Given the description of an element on the screen output the (x, y) to click on. 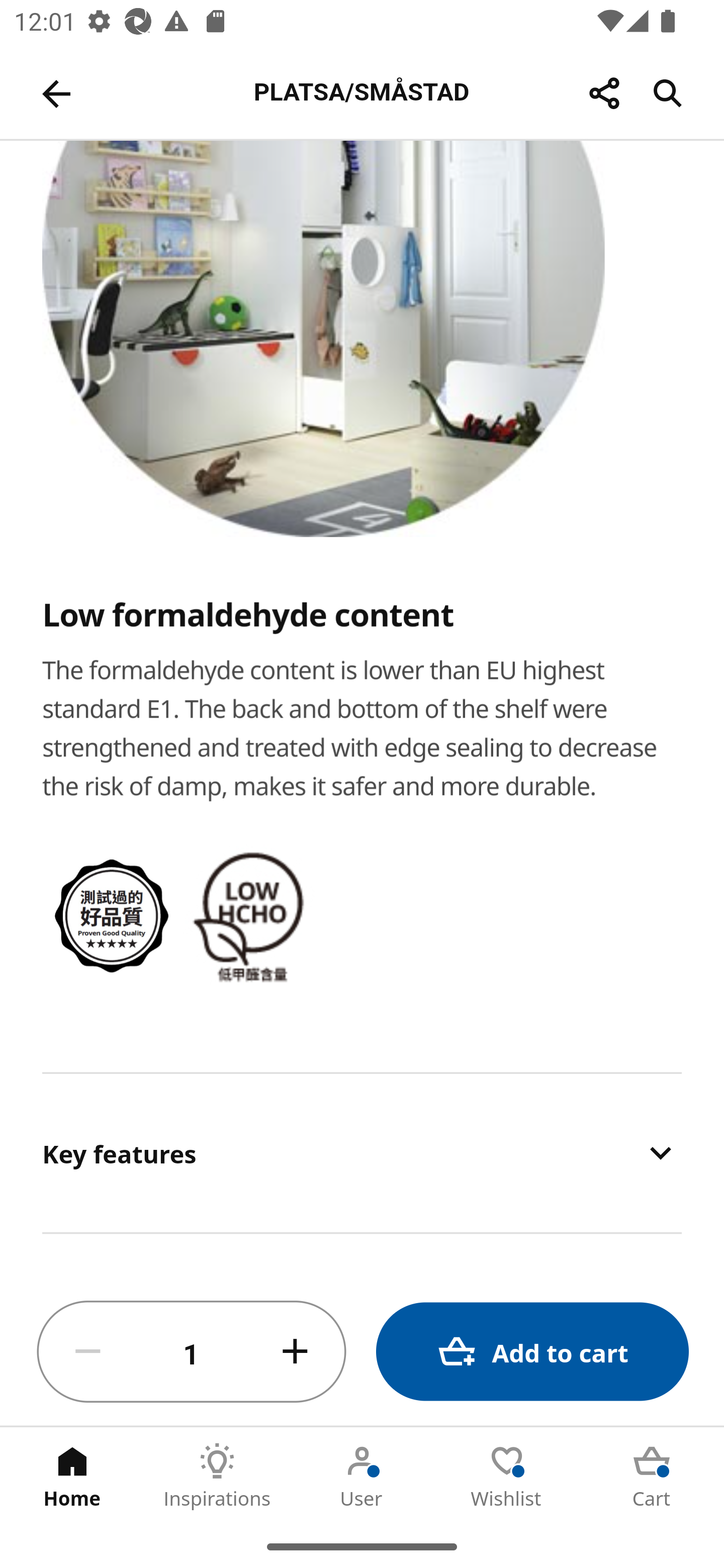
low-formaldehyde (253, 914)
wood_based_storage_ITCS (112, 915)
Key features (361, 1152)
Add to cart (531, 1352)
1 (191, 1352)
Home
Tab 1 of 5 (72, 1476)
Inspirations
Tab 2 of 5 (216, 1476)
User
Tab 3 of 5 (361, 1476)
Wishlist
Tab 4 of 5 (506, 1476)
Cart
Tab 5 of 5 (651, 1476)
